Given the description of an element on the screen output the (x, y) to click on. 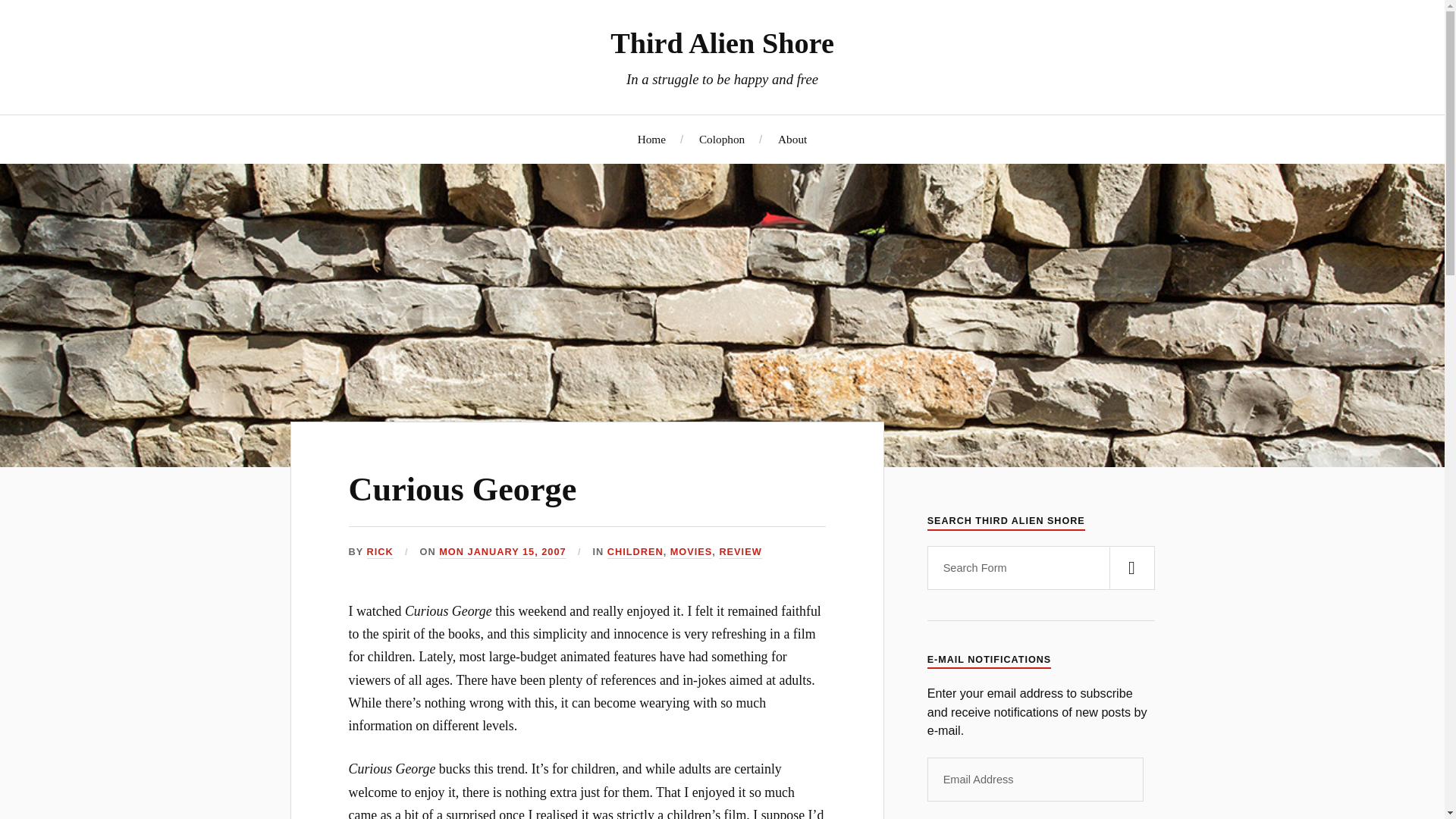
Curious George (462, 488)
REVIEW (740, 552)
Third Alien Shore (722, 42)
MON JANUARY 15, 2007 (502, 552)
Posts by Rick (379, 552)
RICK (379, 552)
CHILDREN (635, 552)
MOVIES (691, 552)
Colophon (721, 138)
